Given the description of an element on the screen output the (x, y) to click on. 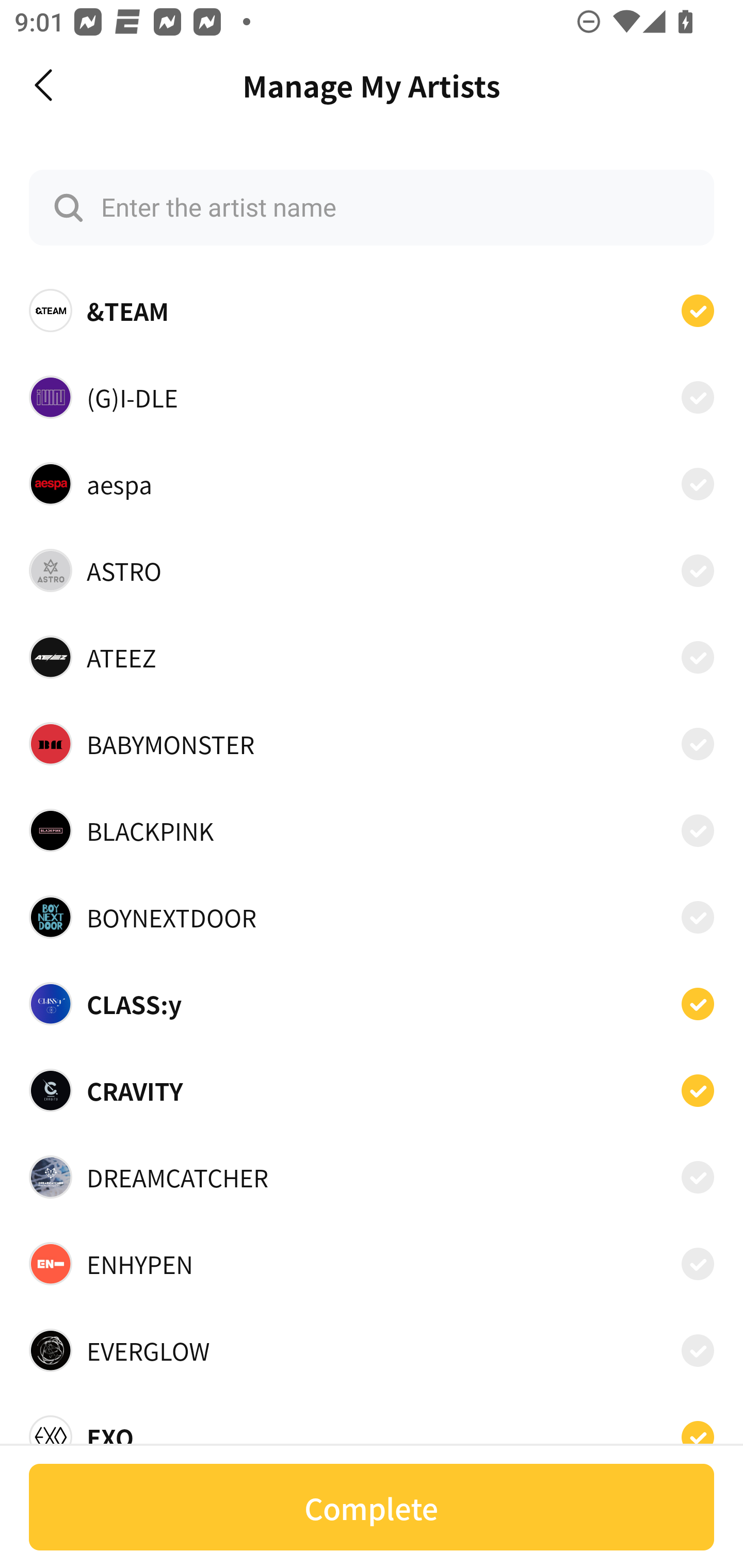
Enter the artist name (371, 207)
&TEAM (371, 310)
(G)I-DLE (371, 396)
aespa (371, 483)
ASTRO (371, 570)
ATEEZ (371, 656)
BABYMONSTER (371, 743)
BLACKPINK (371, 830)
BOYNEXTDOOR (371, 917)
CLASS:y (371, 1003)
CRAVITY (371, 1090)
DREAMCATCHER (371, 1176)
ENHYPEN (371, 1263)
EVERGLOW (371, 1350)
EXO (371, 1430)
Complete (371, 1507)
